Given the description of an element on the screen output the (x, y) to click on. 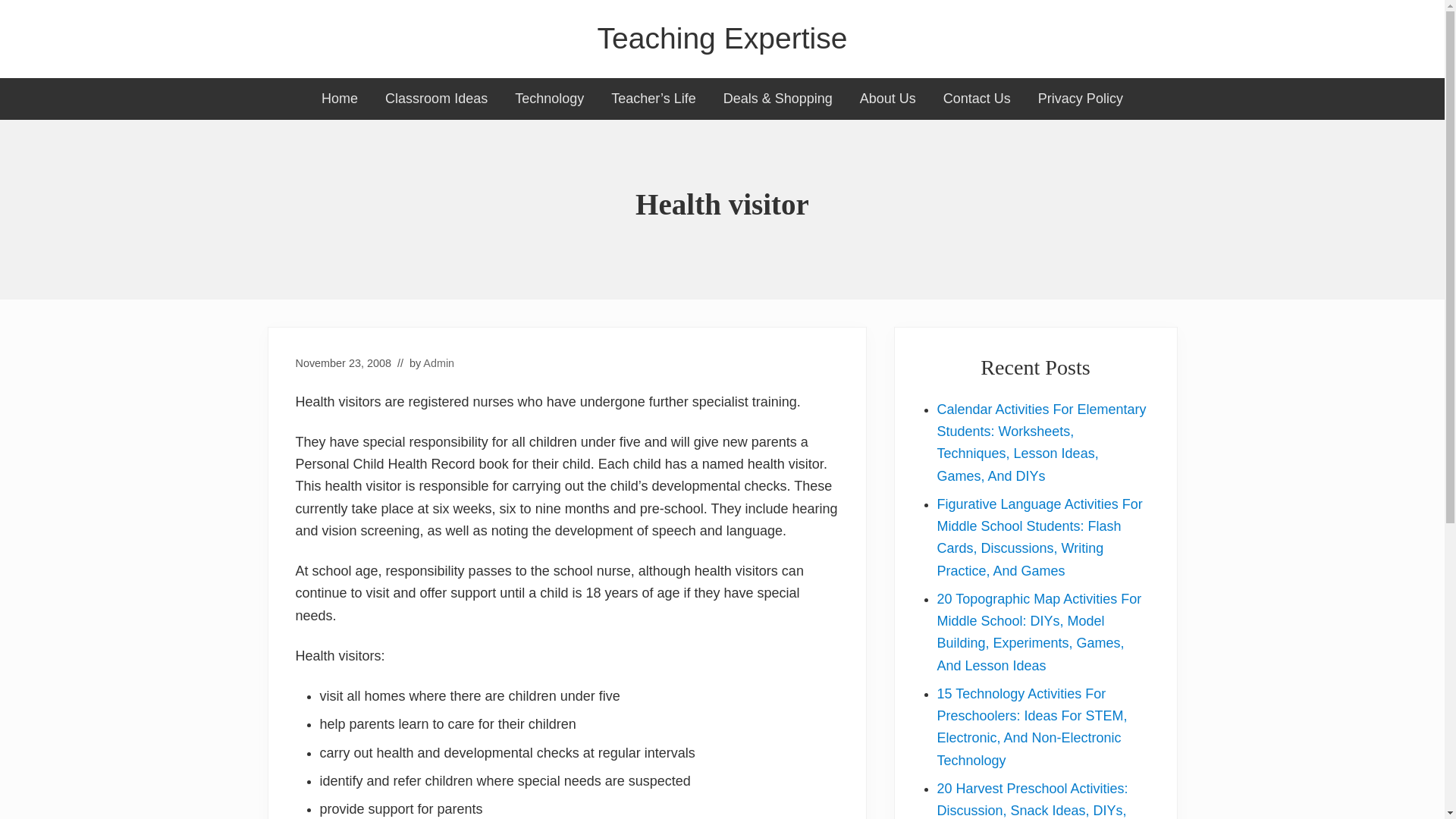
Admin (438, 363)
Technology (548, 98)
Contact Us (977, 98)
Home (339, 98)
About Us (887, 98)
Privacy Policy (1081, 98)
